Given the description of an element on the screen output the (x, y) to click on. 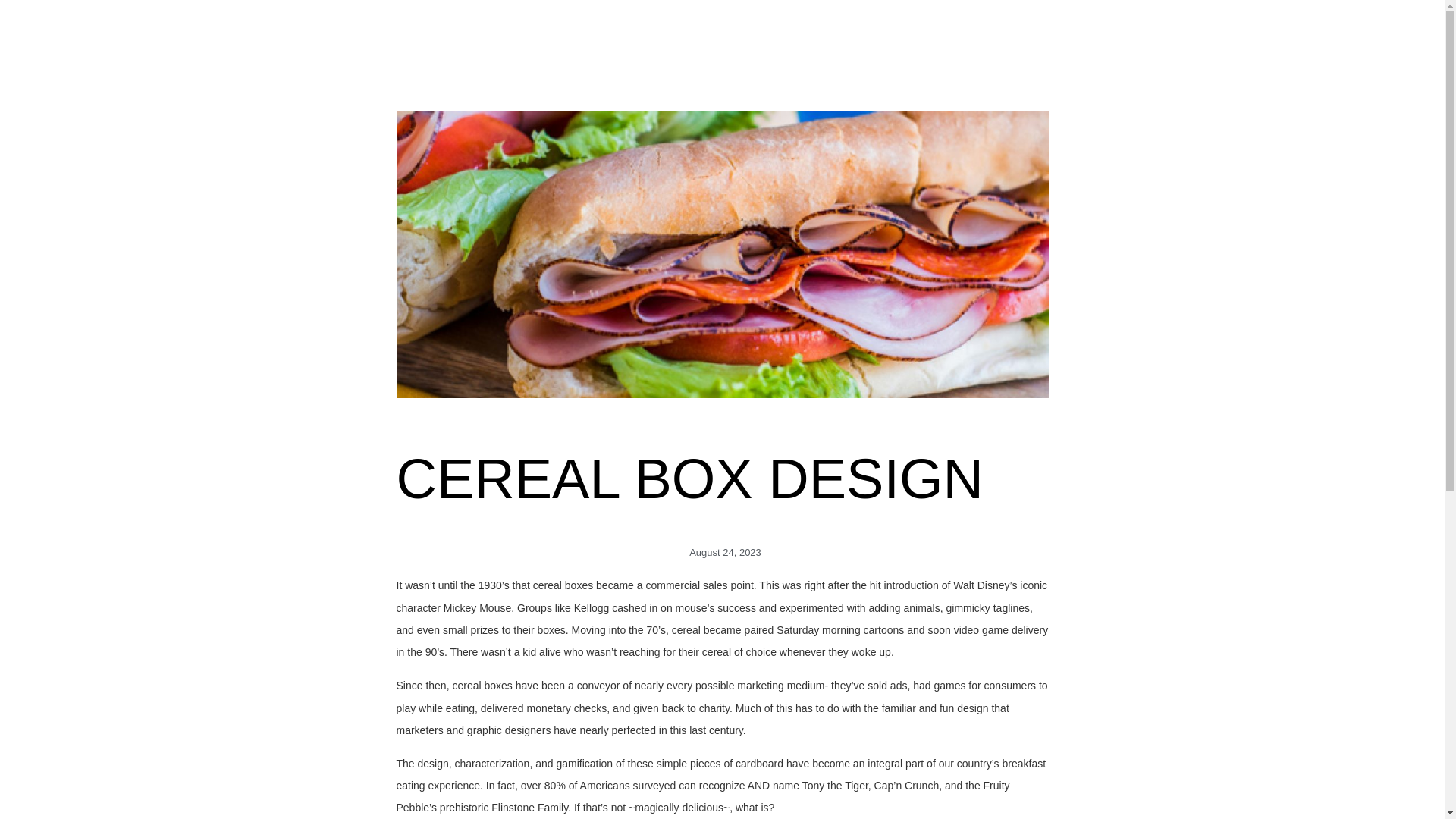
August 24, 2023 (721, 552)
